Given the description of an element on the screen output the (x, y) to click on. 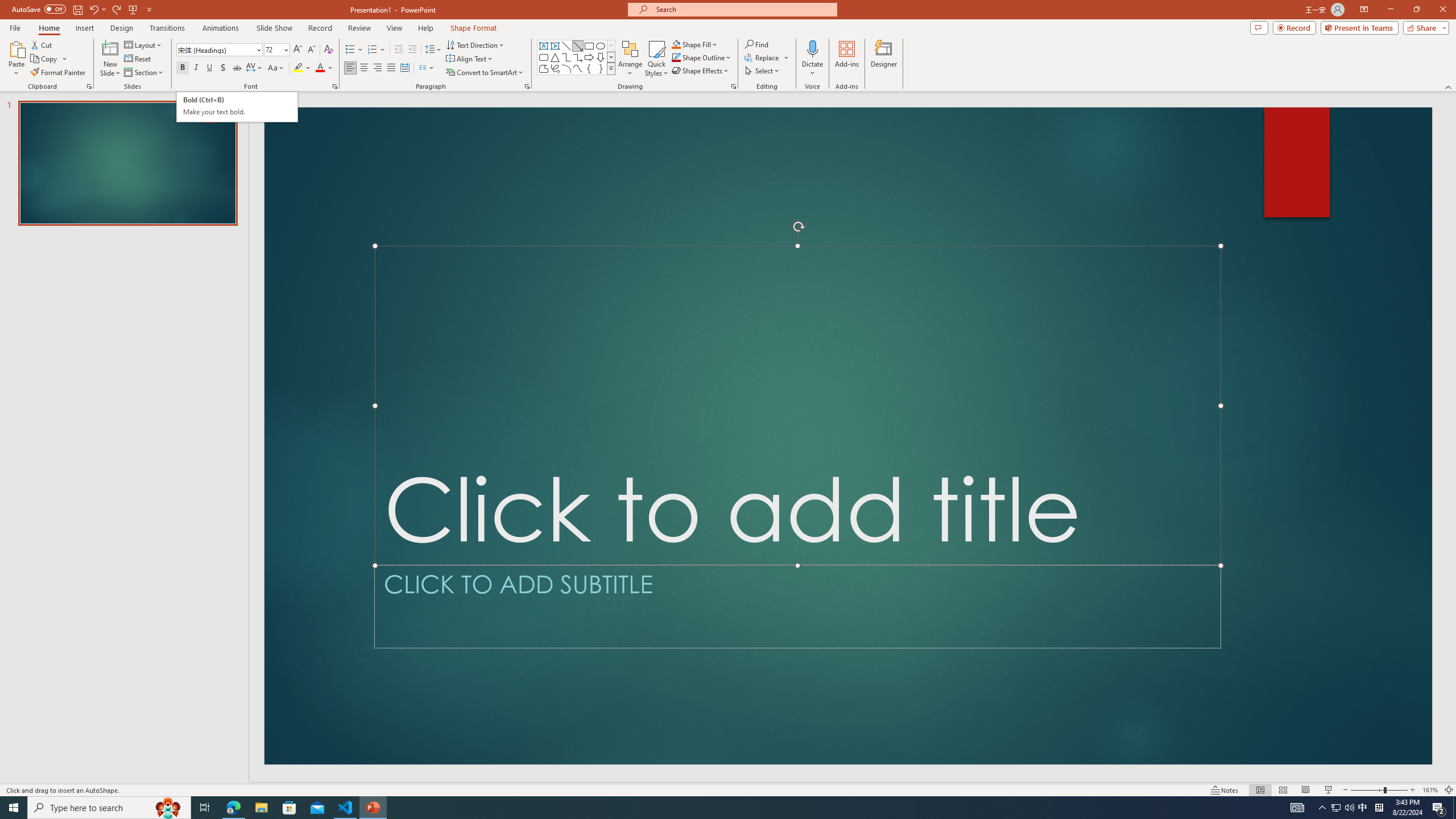
AutomationID: ShapesInsertGallery (576, 57)
Text Direction (476, 44)
Dictate (812, 48)
Columns (426, 67)
Font Color Red (320, 67)
Italic (195, 67)
Cut (42, 44)
Dictate (812, 58)
Connector: Elbow (566, 57)
